Given the description of an element on the screen output the (x, y) to click on. 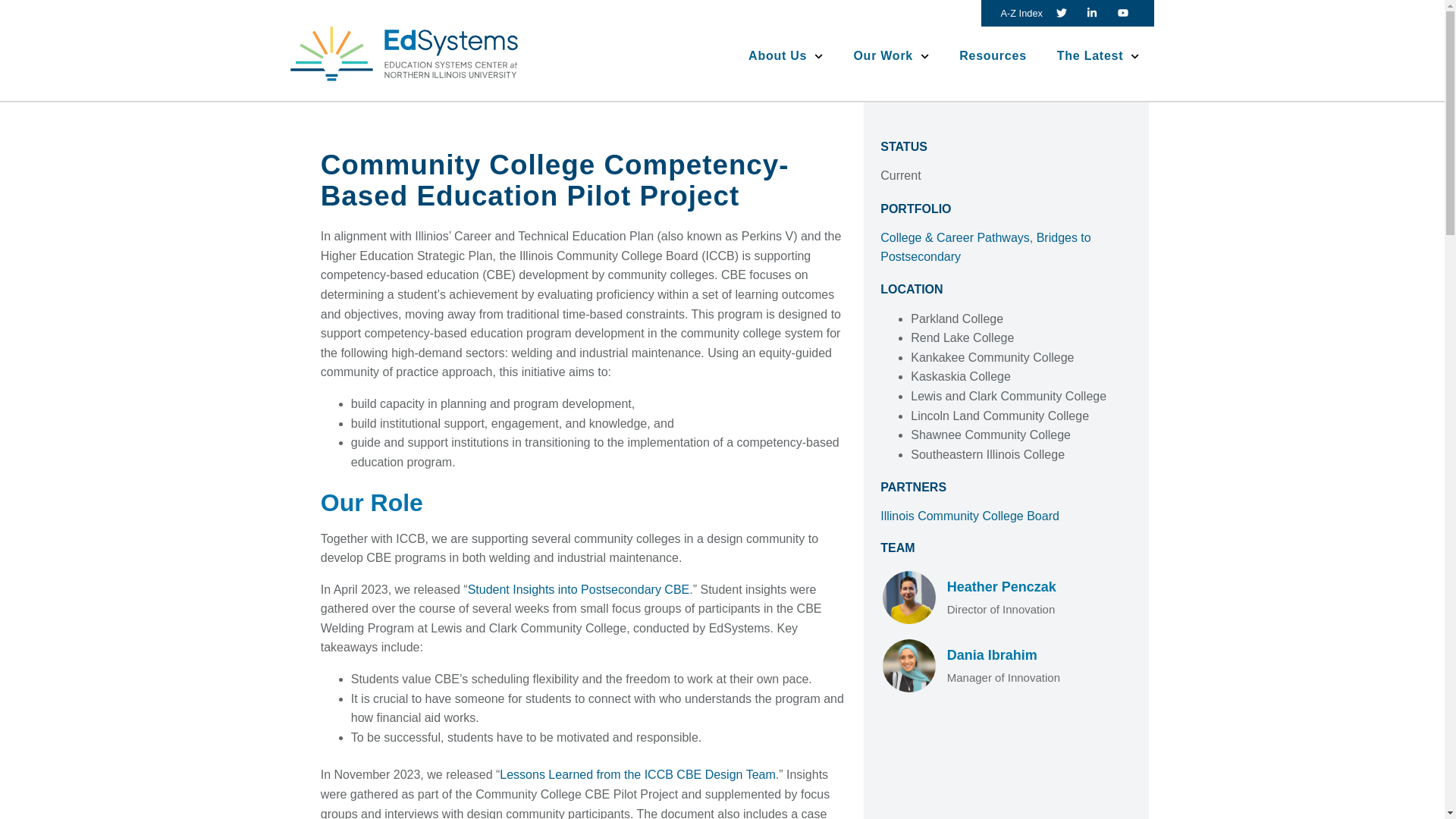
Resources (992, 55)
About Us (785, 55)
Illinois Community College Board (969, 515)
Bridges to Postsecondary (985, 246)
Student Insights into Postsecondary CBE (578, 589)
A-Z Index (1021, 13)
Lessons Learned from the ICCB CBE Design Team (636, 774)
Dania Ibrahim (991, 654)
The Latest (1098, 55)
Heather Penczak (1002, 586)
Our Work (890, 55)
